Given the description of an element on the screen output the (x, y) to click on. 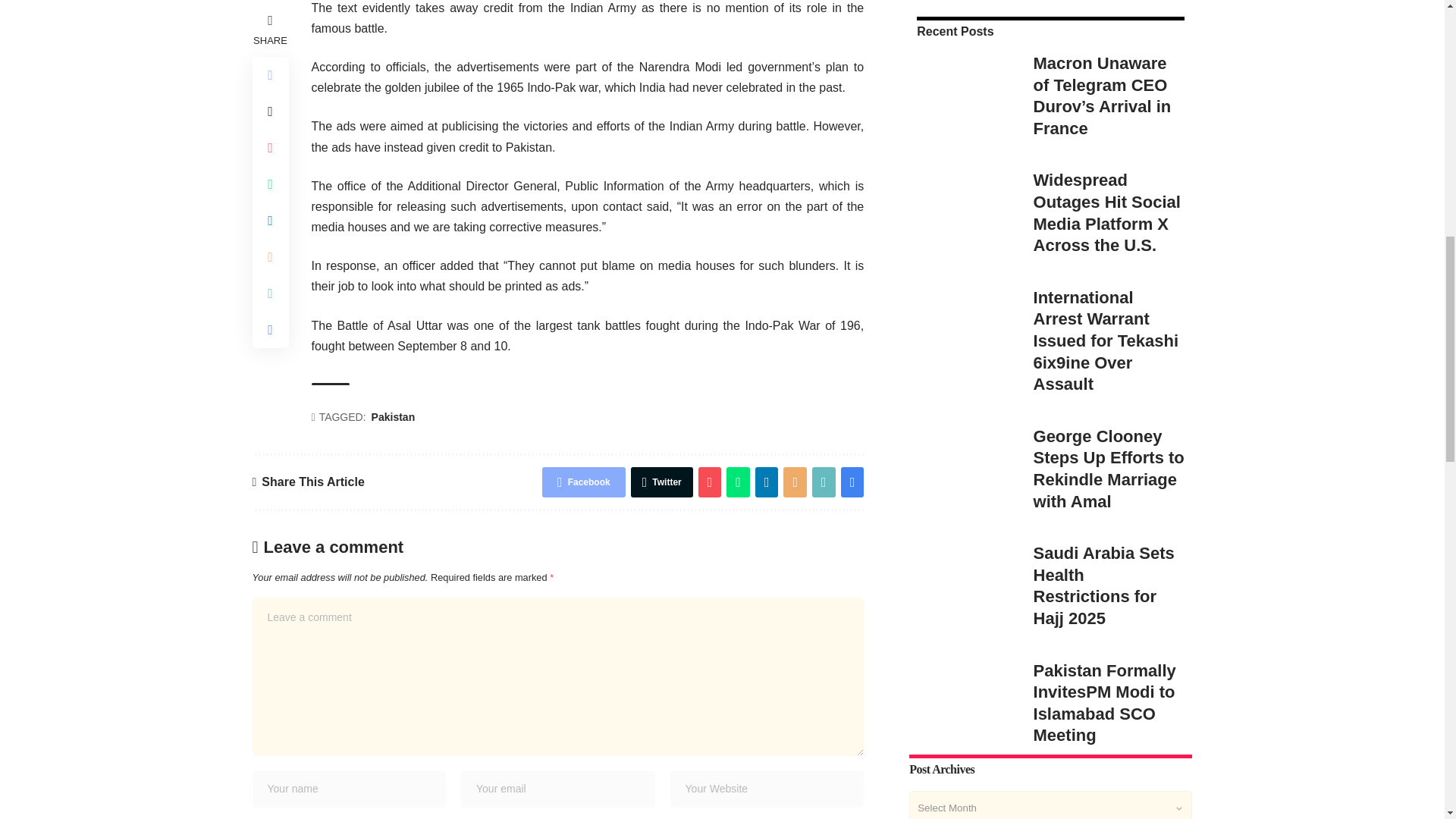
Saudi Arabia Sets Health Restrictions for Hajj 2025 (963, 318)
Pakistan Formally InvitesPM Modi to Islamabad SCO Meeting (963, 435)
